Given the description of an element on the screen output the (x, y) to click on. 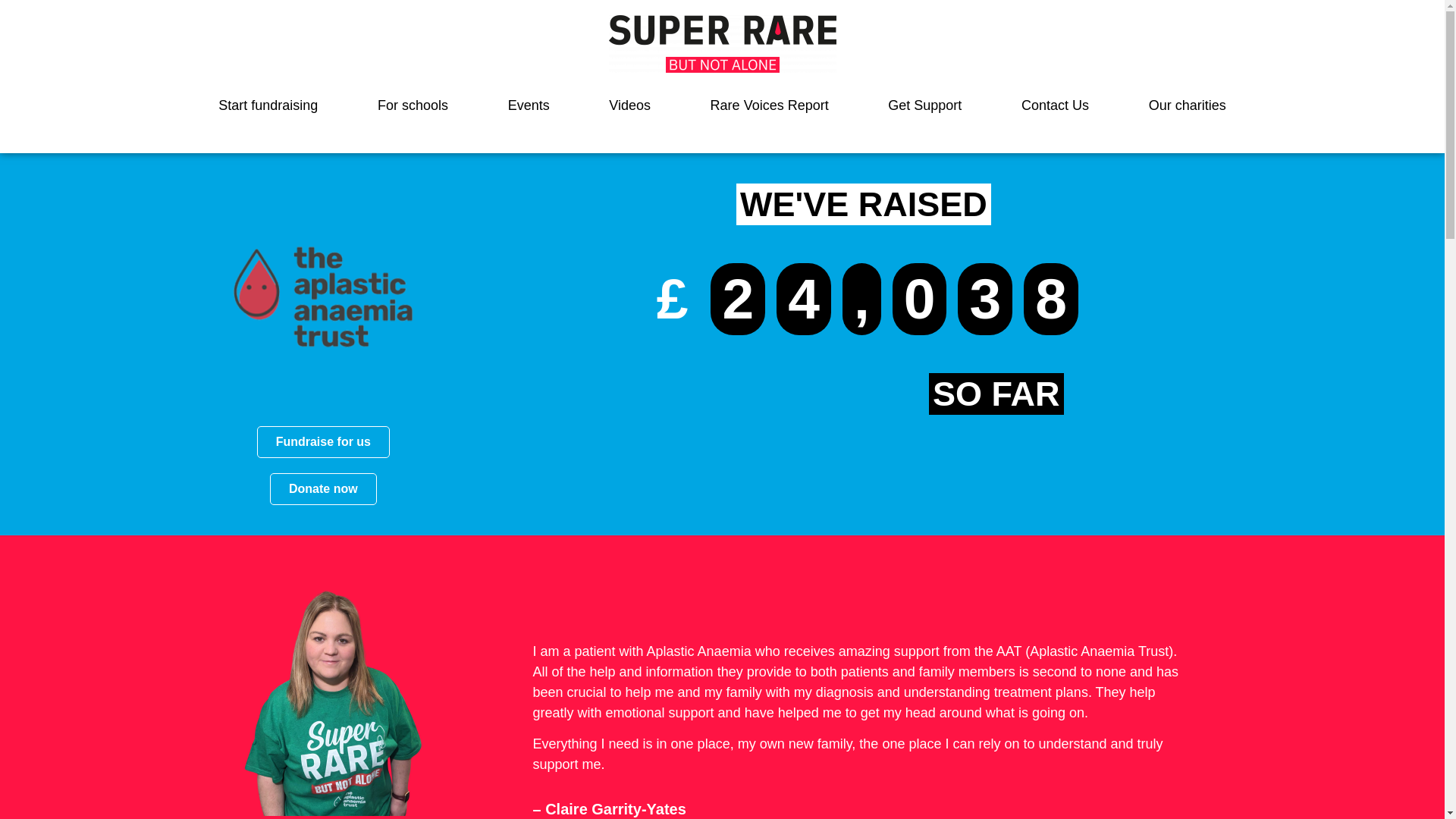
Our charities (1186, 104)
Contact Us (1055, 104)
Start fundraising (268, 104)
Events (528, 104)
Rare Voices Report (769, 104)
For schools (413, 104)
Videos (629, 104)
Get Support (925, 104)
